Given the description of an element on the screen output the (x, y) to click on. 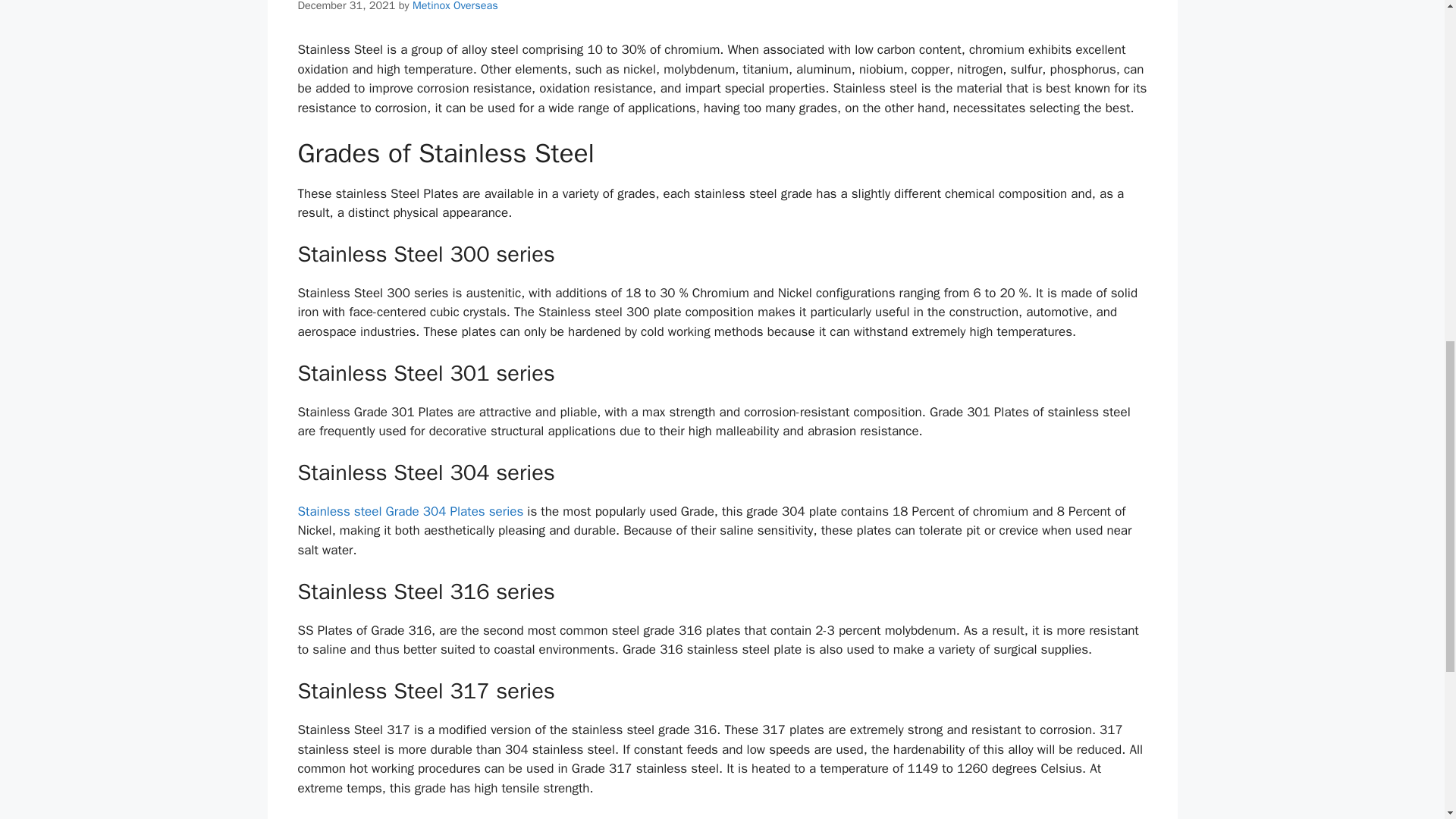
View all posts by Metinox Overseas (454, 6)
Metinox Overseas (454, 6)
Stainless steel Grade 304 Plates series (409, 511)
